Given the description of an element on the screen output the (x, y) to click on. 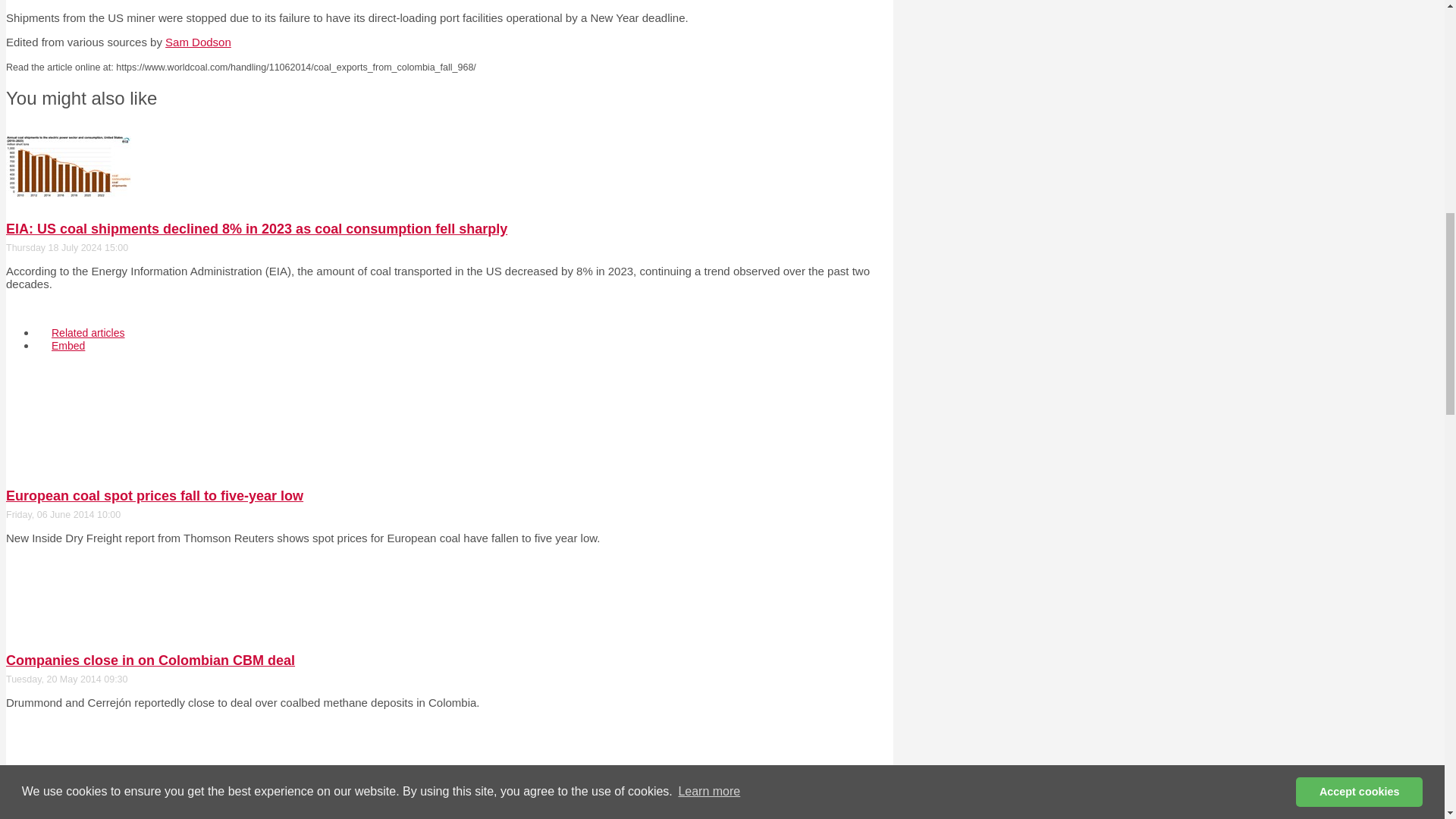
Related articles (87, 332)
Sam Dodson (198, 42)
Embed (68, 345)
European coal spot prices fall to five-year low (153, 495)
Companies close in on Colombian CBM deal (150, 660)
